Given the description of an element on the screen output the (x, y) to click on. 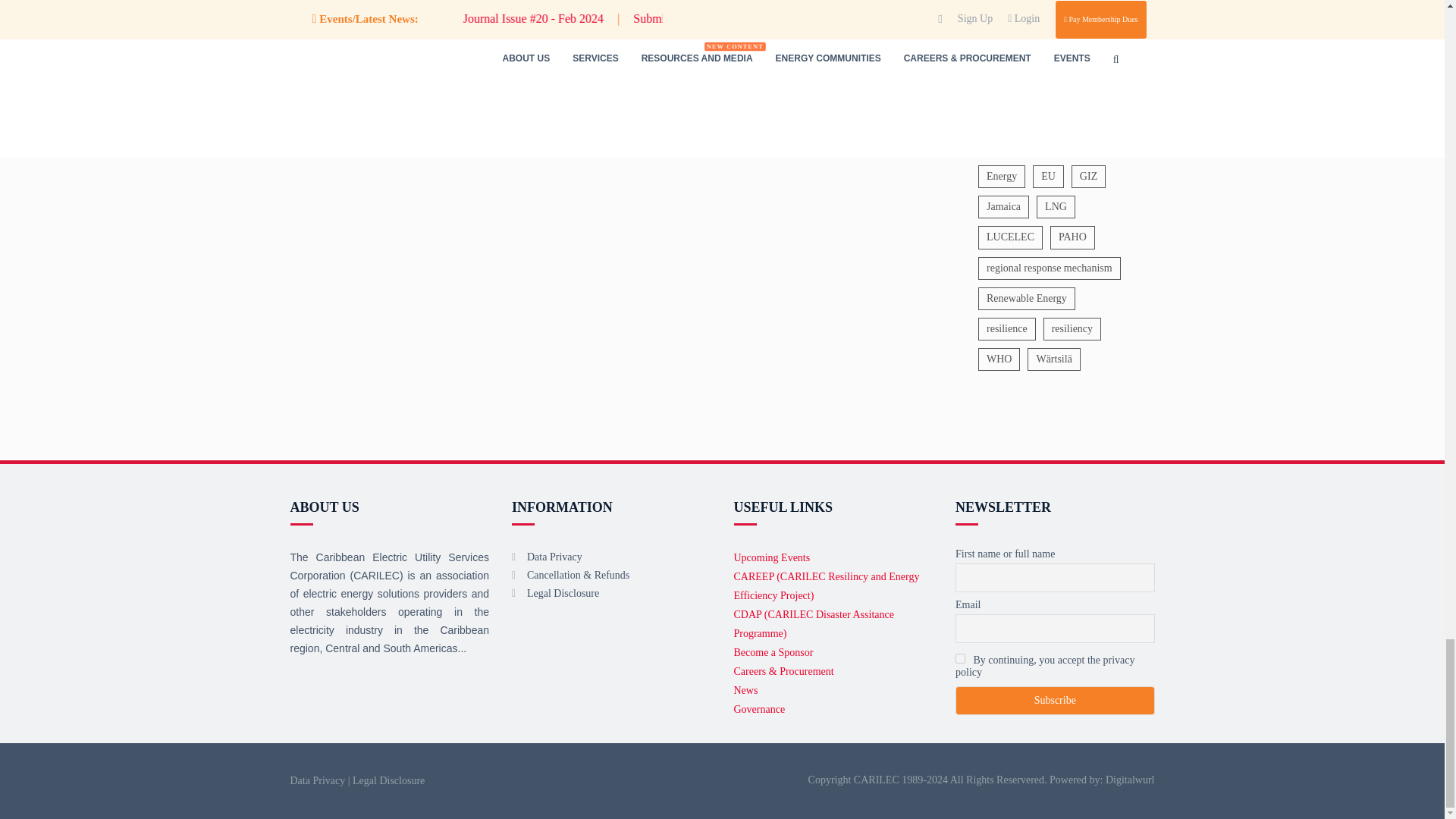
on (960, 658)
Subscribe (1054, 700)
